Given the description of an element on the screen output the (x, y) to click on. 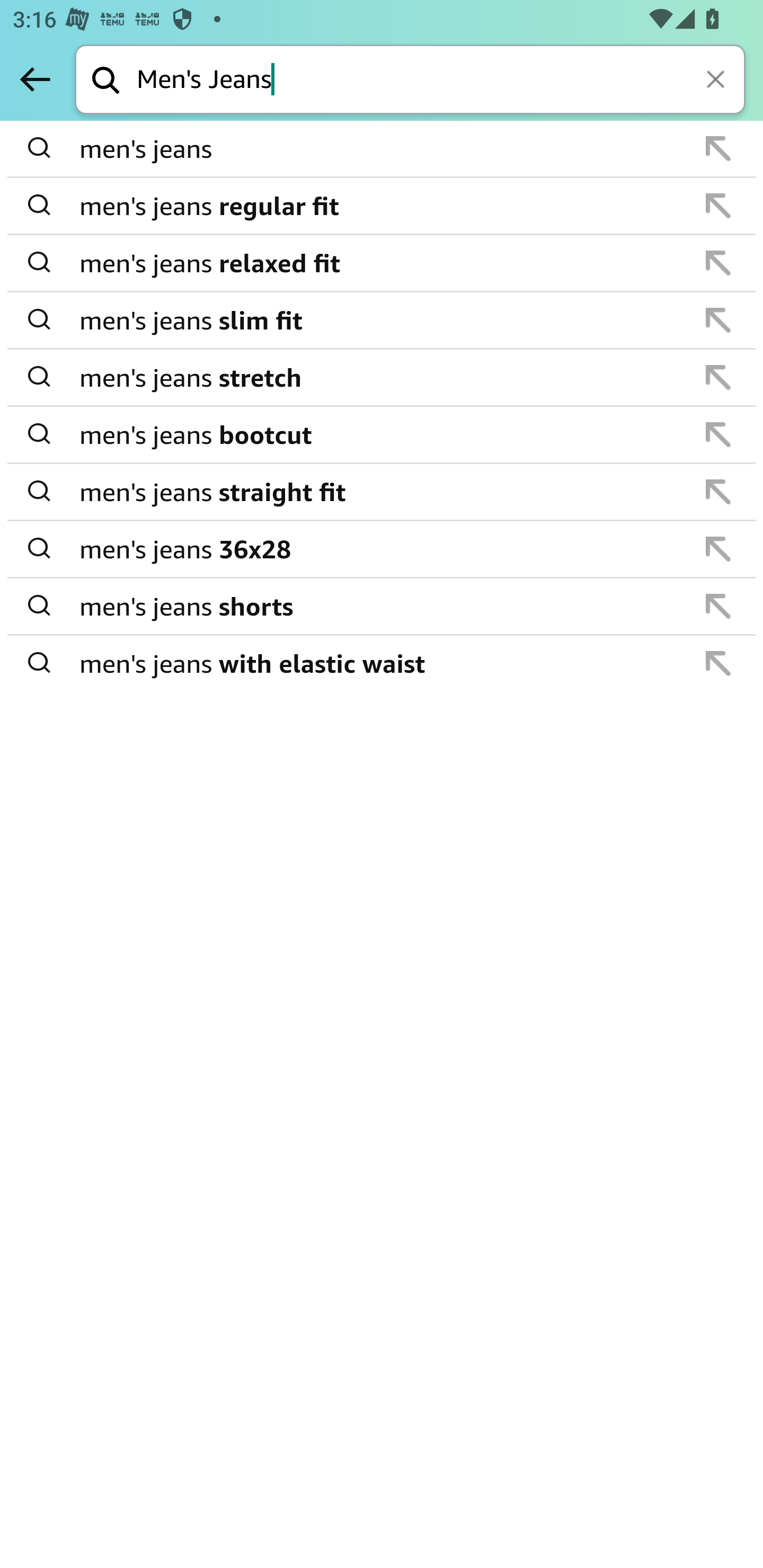
Men's Jeans (440, 80)
Clear search keywords (717, 80)
Back (35, 78)
append suggestion men's jeans (381, 149)
men's jeans (382, 149)
append suggestion (718, 147)
men's jeans regular fit (382, 205)
append suggestion men's jeans regular fit (381, 206)
append suggestion (718, 205)
men's jeans relaxed fit (382, 262)
append suggestion men's jeans relaxed fit (381, 263)
append suggestion (718, 262)
men's jeans slim fit (382, 319)
append suggestion men's jeans slim fit (381, 320)
append suggestion (718, 319)
men's jeans stretch (382, 377)
append suggestion men's jeans stretch (381, 377)
append suggestion (718, 376)
men's jeans bootcut (382, 434)
append suggestion men's jeans bootcut (381, 435)
append suggestion (718, 434)
men's jeans straight fit (382, 491)
append suggestion men's jeans straight fit (381, 492)
append suggestion (718, 491)
men's jeans 36x28 (382, 548)
append suggestion men's jeans 36x28 (381, 549)
append suggestion (718, 548)
men's jeans shorts (382, 606)
append suggestion men's jeans shorts (381, 606)
append suggestion (718, 605)
men's jeans with elastic waist (382, 662)
append suggestion men's jeans with elastic waist (381, 663)
append suggestion (718, 663)
